Given the description of an element on the screen output the (x, y) to click on. 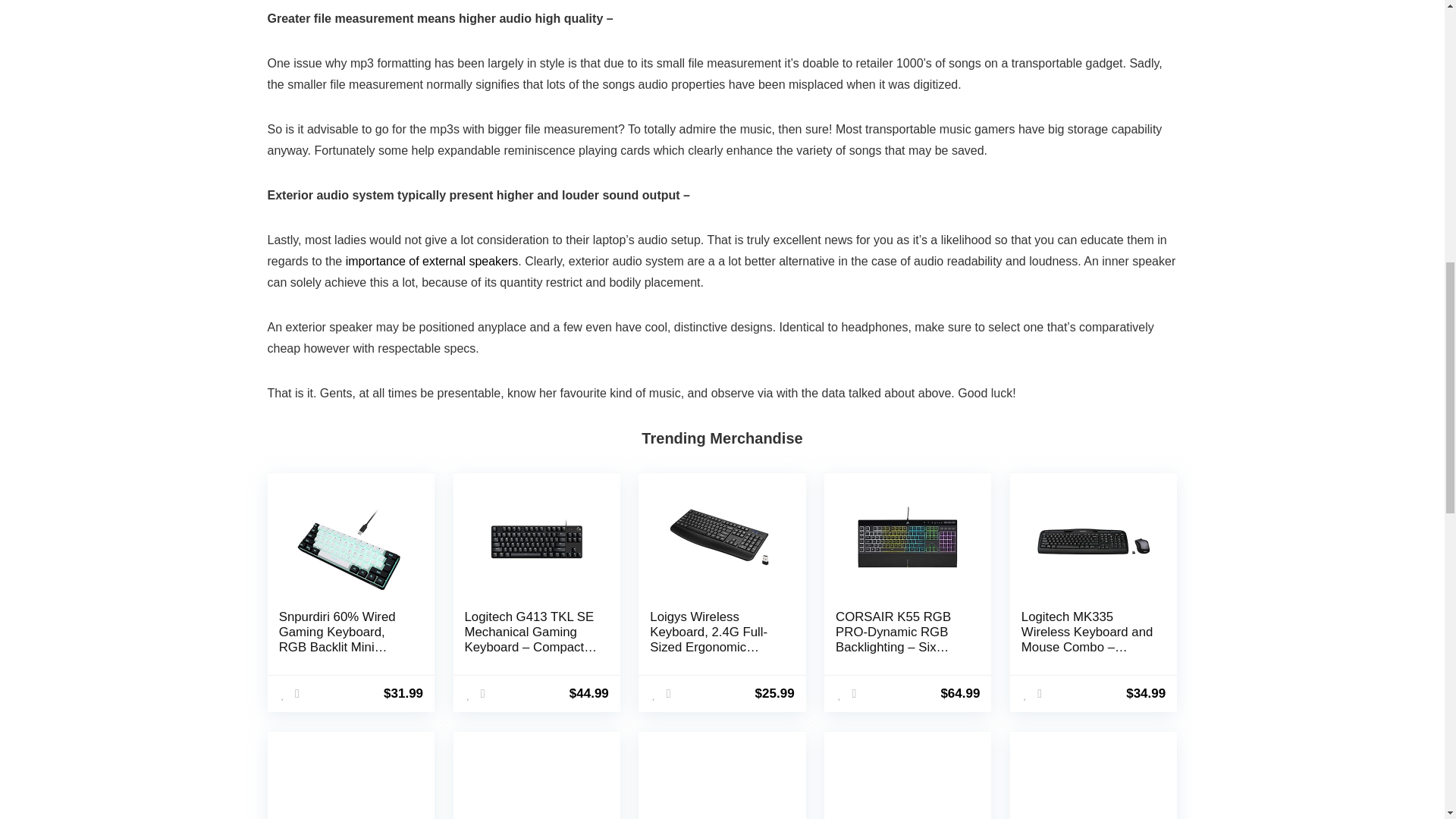
How To Impress A Girl Using Technology 2 (536, 541)
How To Impress A Girl Using Technology 1 (351, 541)
How To Impress A Girl Using Technology 5 (1094, 541)
How To Impress A Girl Using Technology 4 (907, 541)
How To Impress A Girl Using Technology 3 (721, 541)
